Given the description of an element on the screen output the (x, y) to click on. 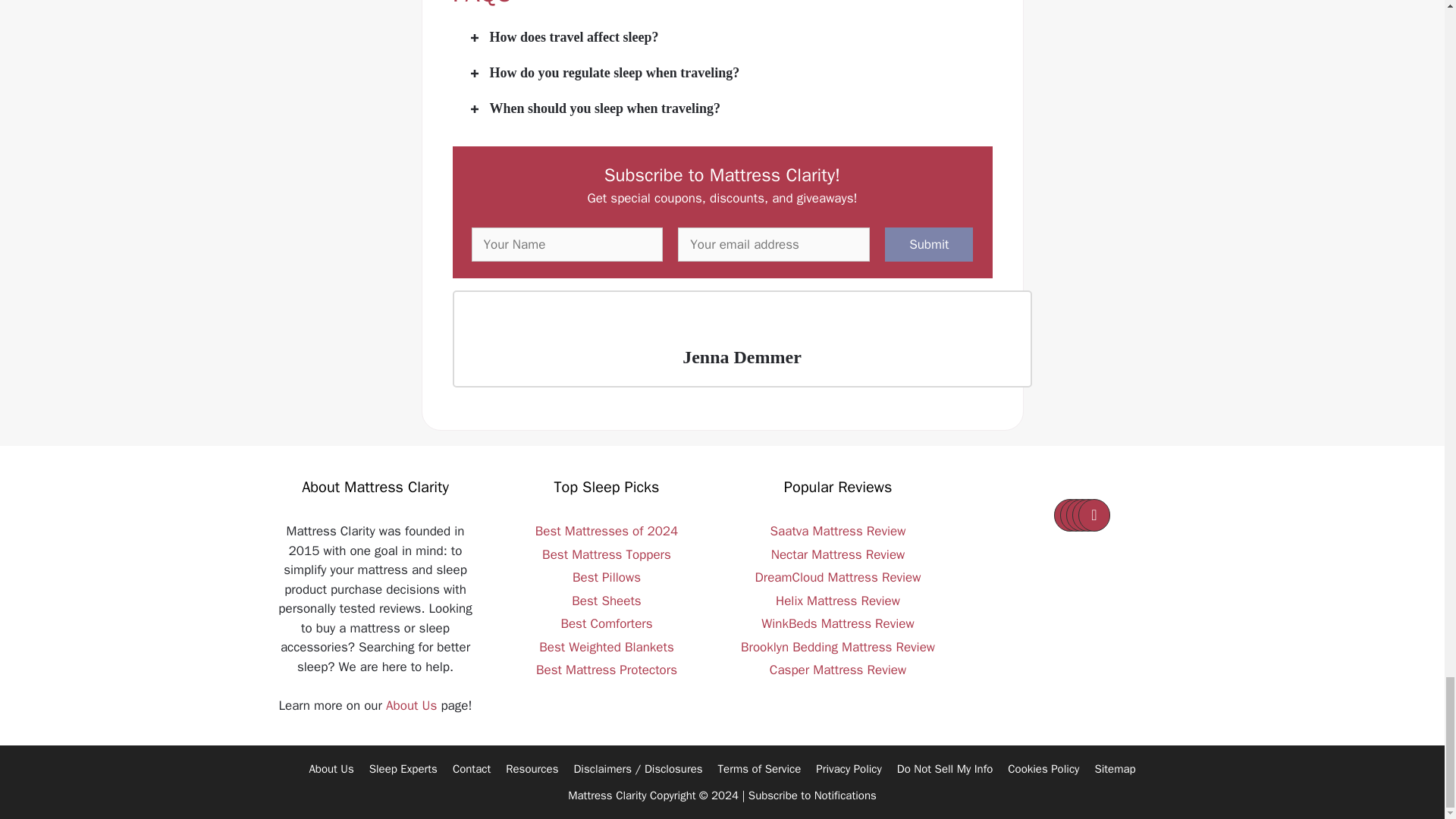
Submit (928, 244)
